Given the description of an element on the screen output the (x, y) to click on. 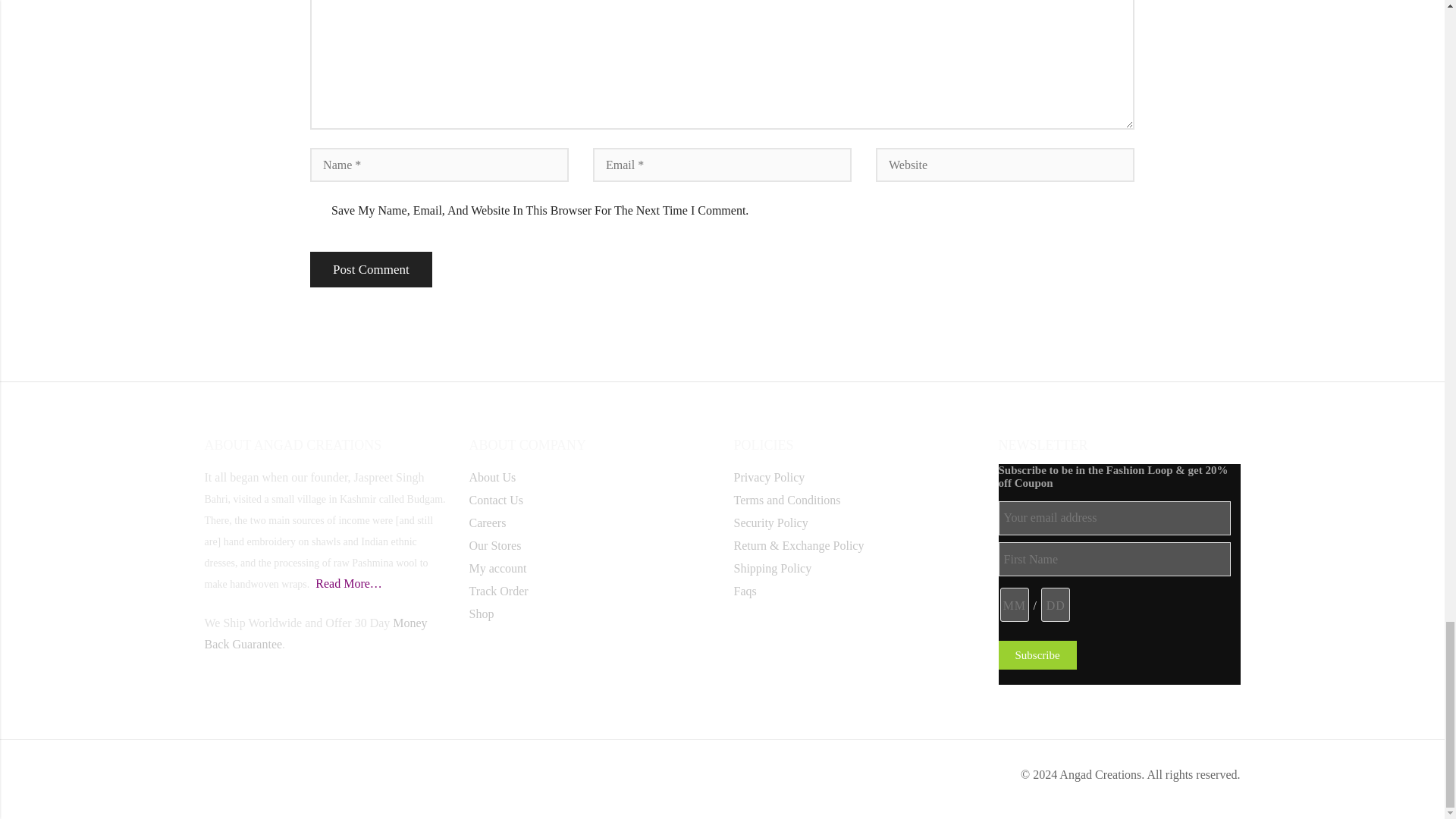
Subscribe (1036, 654)
yes (316, 210)
Post Comment (371, 269)
